Given the description of an element on the screen output the (x, y) to click on. 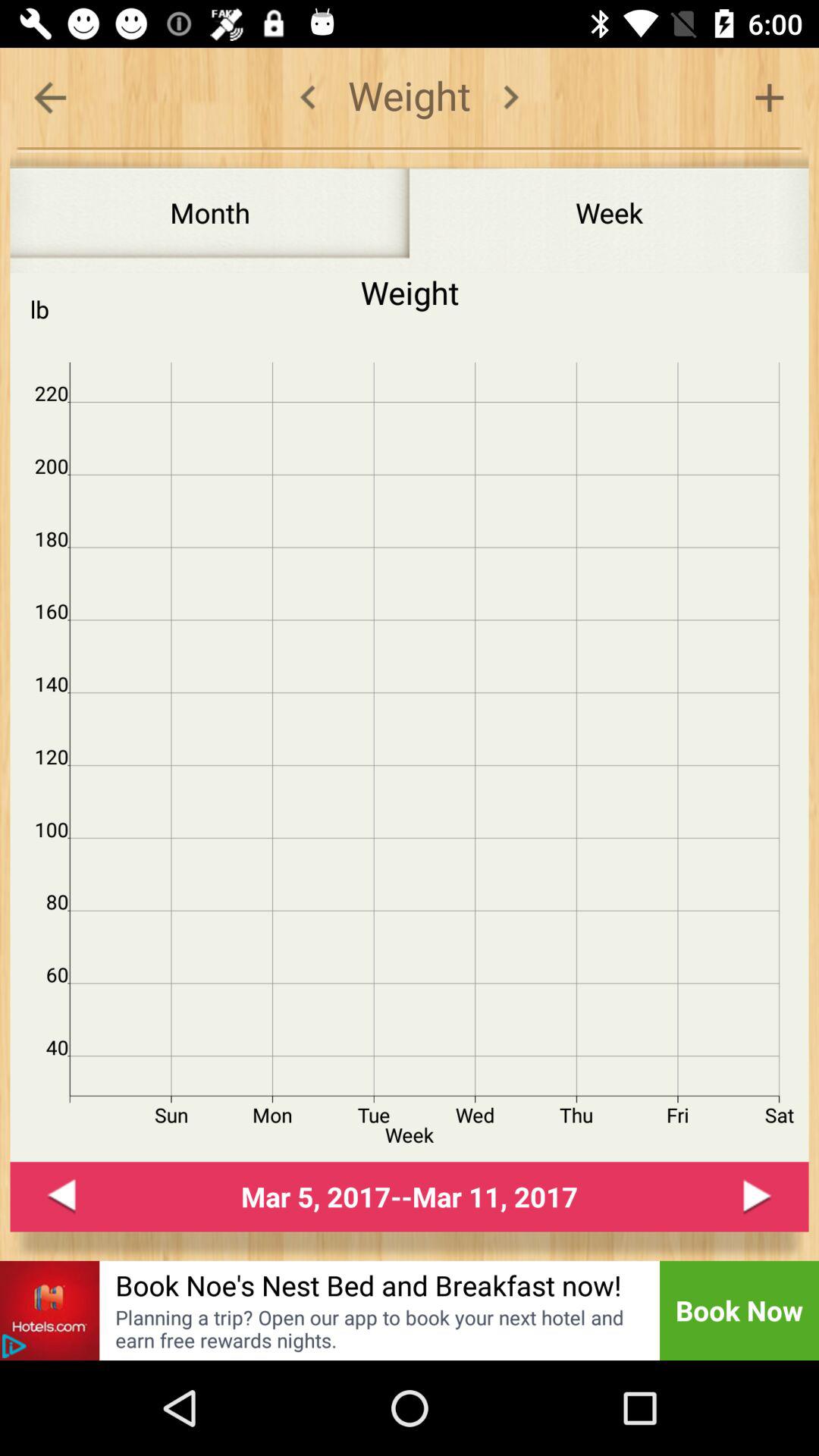
advertisement page (14, 1346)
